Given the description of an element on the screen output the (x, y) to click on. 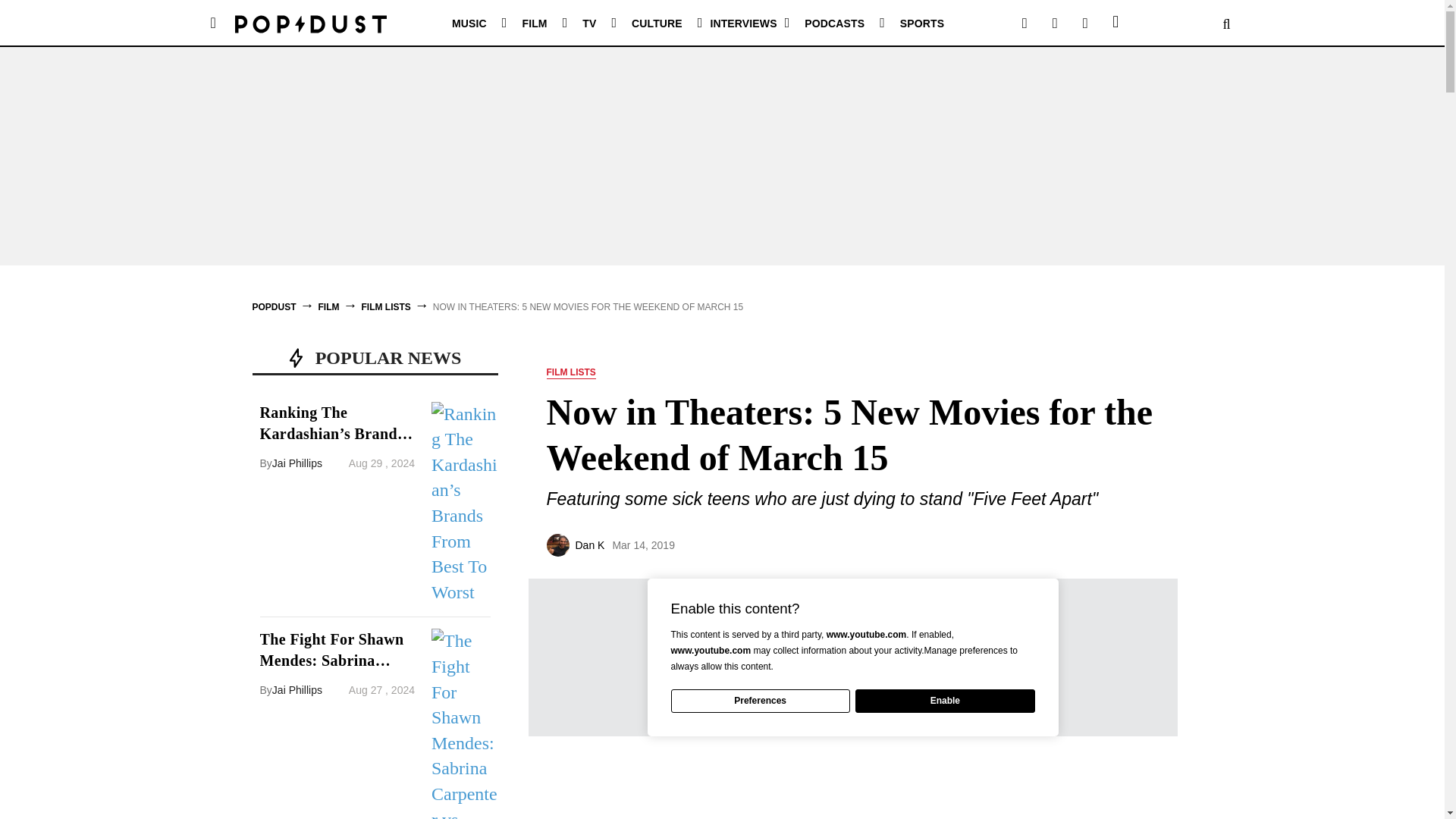
MUSIC (469, 22)
CULTURE (657, 22)
FILM (533, 22)
INTERVIEWS (742, 22)
